Given the description of an element on the screen output the (x, y) to click on. 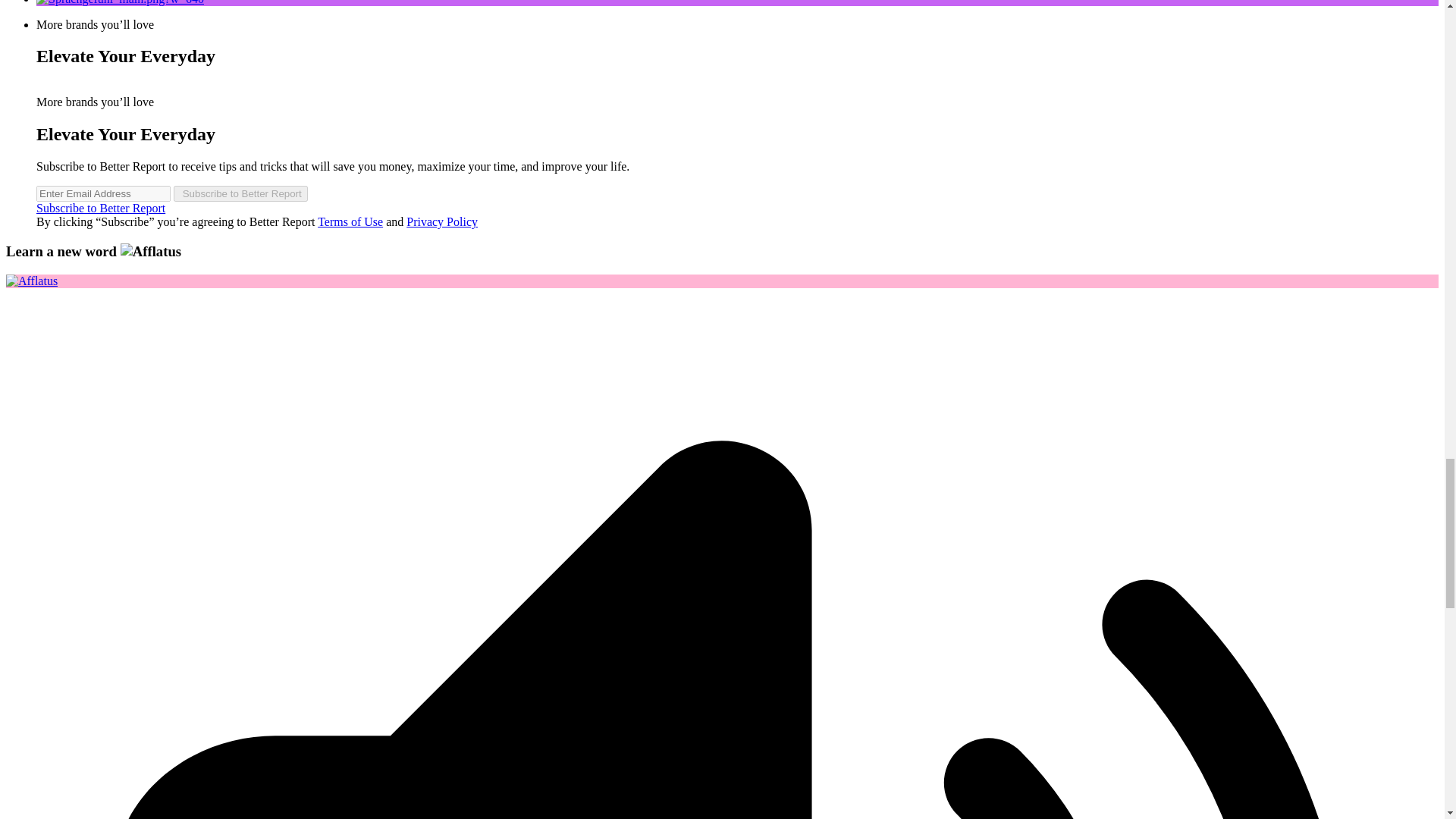
Privacy Policy (441, 221)
Subscribe to Better Report (100, 207)
Terms of Use (349, 221)
Subscribe to Better Report (240, 193)
